Given the description of an element on the screen output the (x, y) to click on. 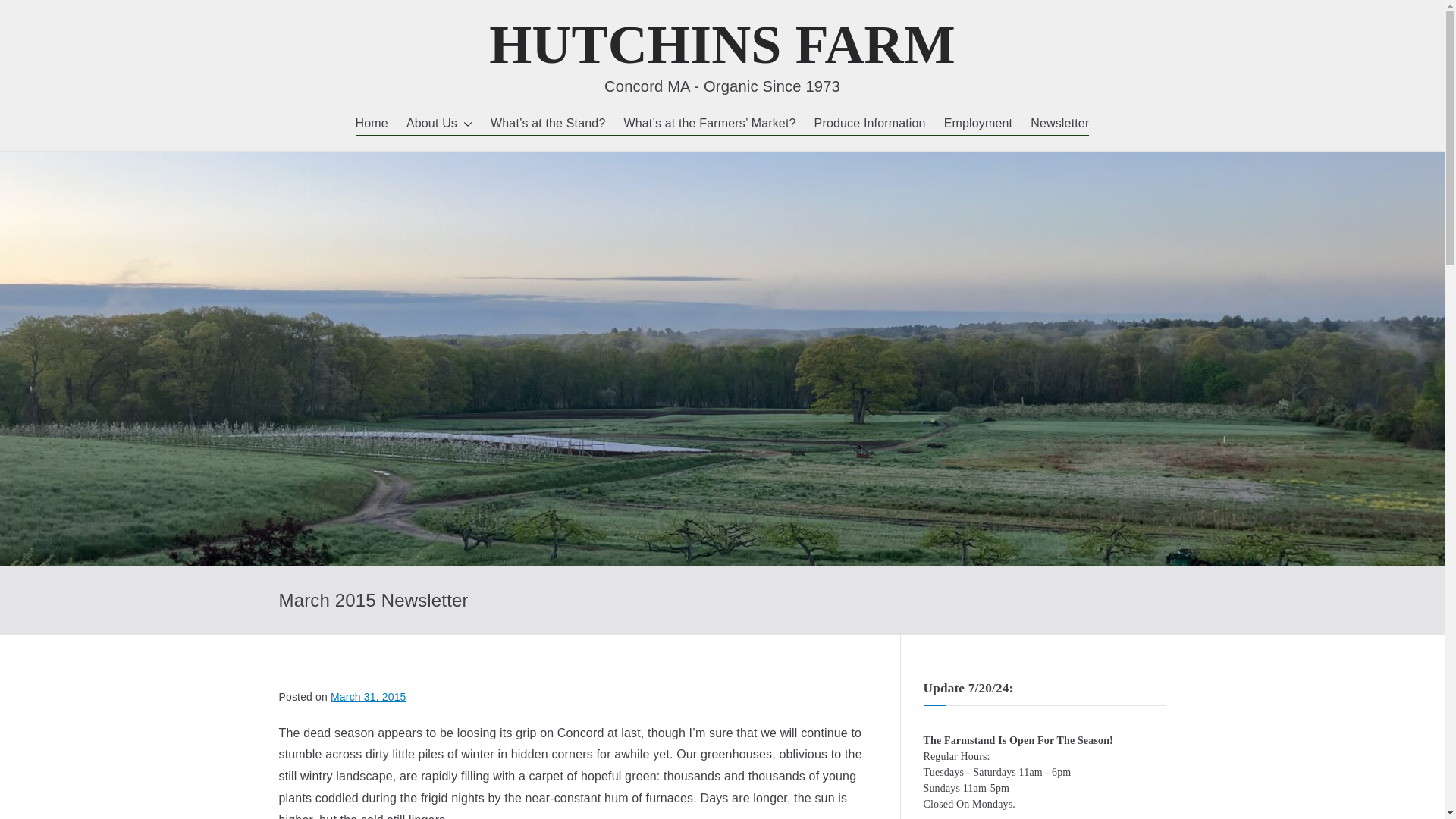
Employment (978, 124)
Home (371, 124)
HUTCHINS FARM (722, 44)
March 31, 2015 (368, 696)
Newsletter (1059, 124)
About Us (438, 124)
Produce Information (869, 124)
